Given the description of an element on the screen output the (x, y) to click on. 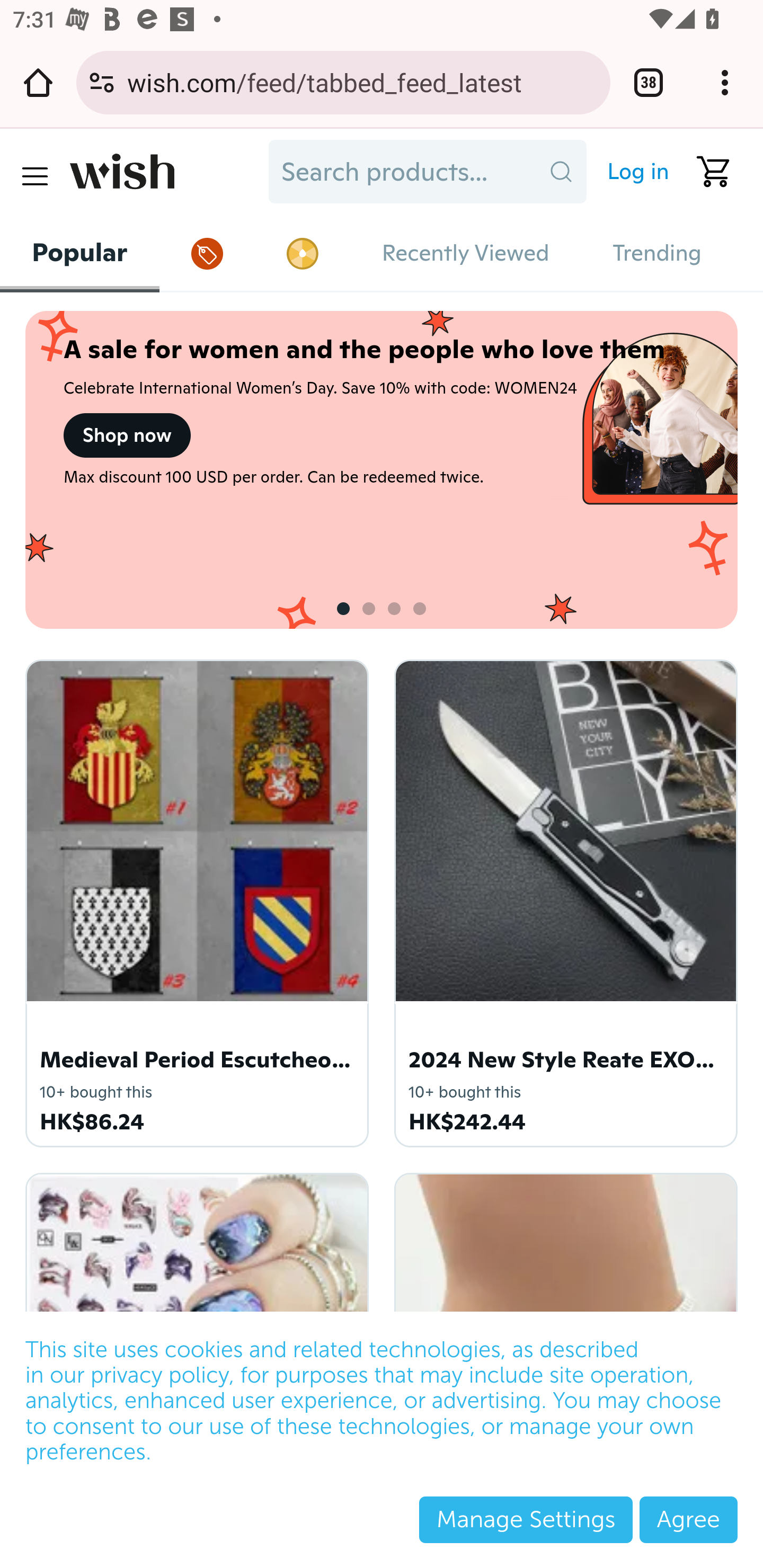
Open the home page (38, 82)
Connection is secure (101, 82)
Switch or close tabs (648, 82)
Customize and control Google Chrome (724, 82)
wish.com/feed/tabbed_feed_latest (362, 82)
Search (560, 171)
Log in (629, 171)
Shopping Cart: 0 items (705, 171)
Main Menu (34, 176)
www.wish (162, 171)
Popular (80, 252)
Deals Hub (207, 252)
blitz_buy__tab (302, 252)
Recently Viewed (465, 252)
Trending (656, 252)
Shop now (127, 435)
Manage Settings (526, 1518)
Agree (688, 1518)
